Given the description of an element on the screen output the (x, y) to click on. 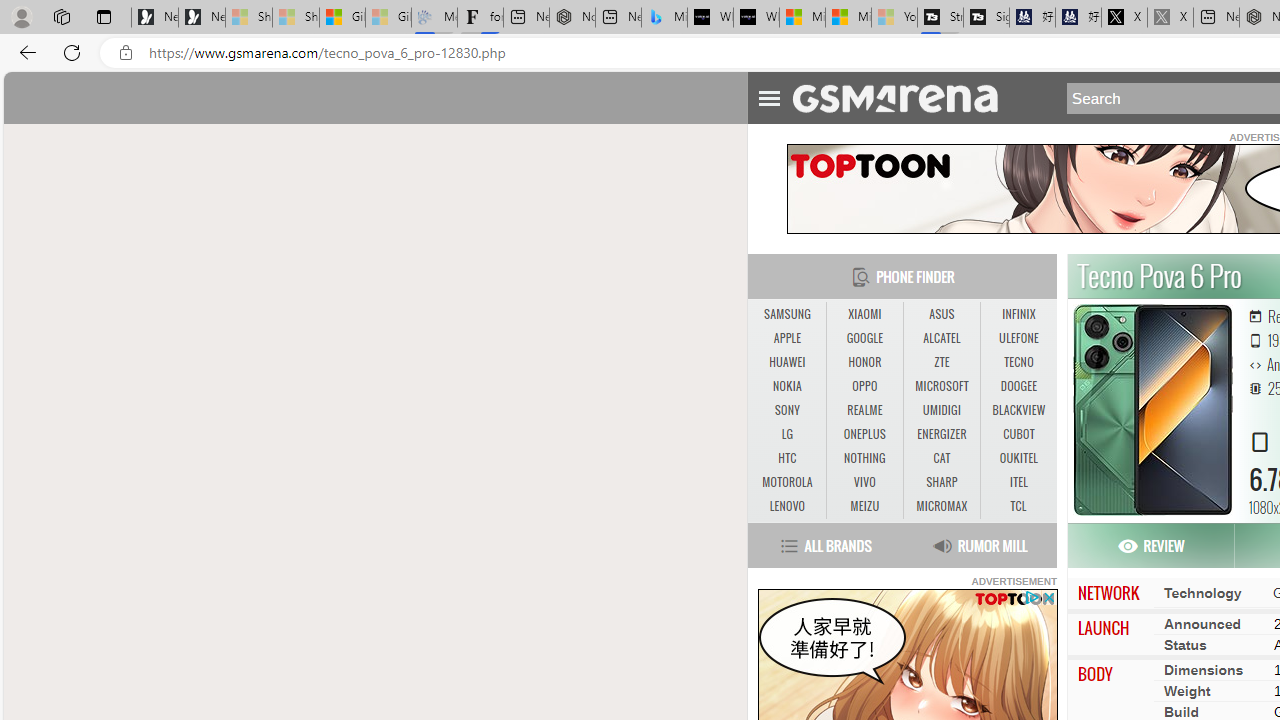
TECNO (1018, 362)
ALCATEL (941, 338)
ZTE (941, 362)
UMIDIGI (941, 411)
UMIDIGI (941, 410)
Tecno Pova 6 Pro MORE PICTURES (1152, 409)
ALCATEL (941, 339)
HUAWEI (786, 362)
CUBOT (1018, 434)
SAMSUNG (786, 313)
SONY (786, 411)
